Given the description of an element on the screen output the (x, y) to click on. 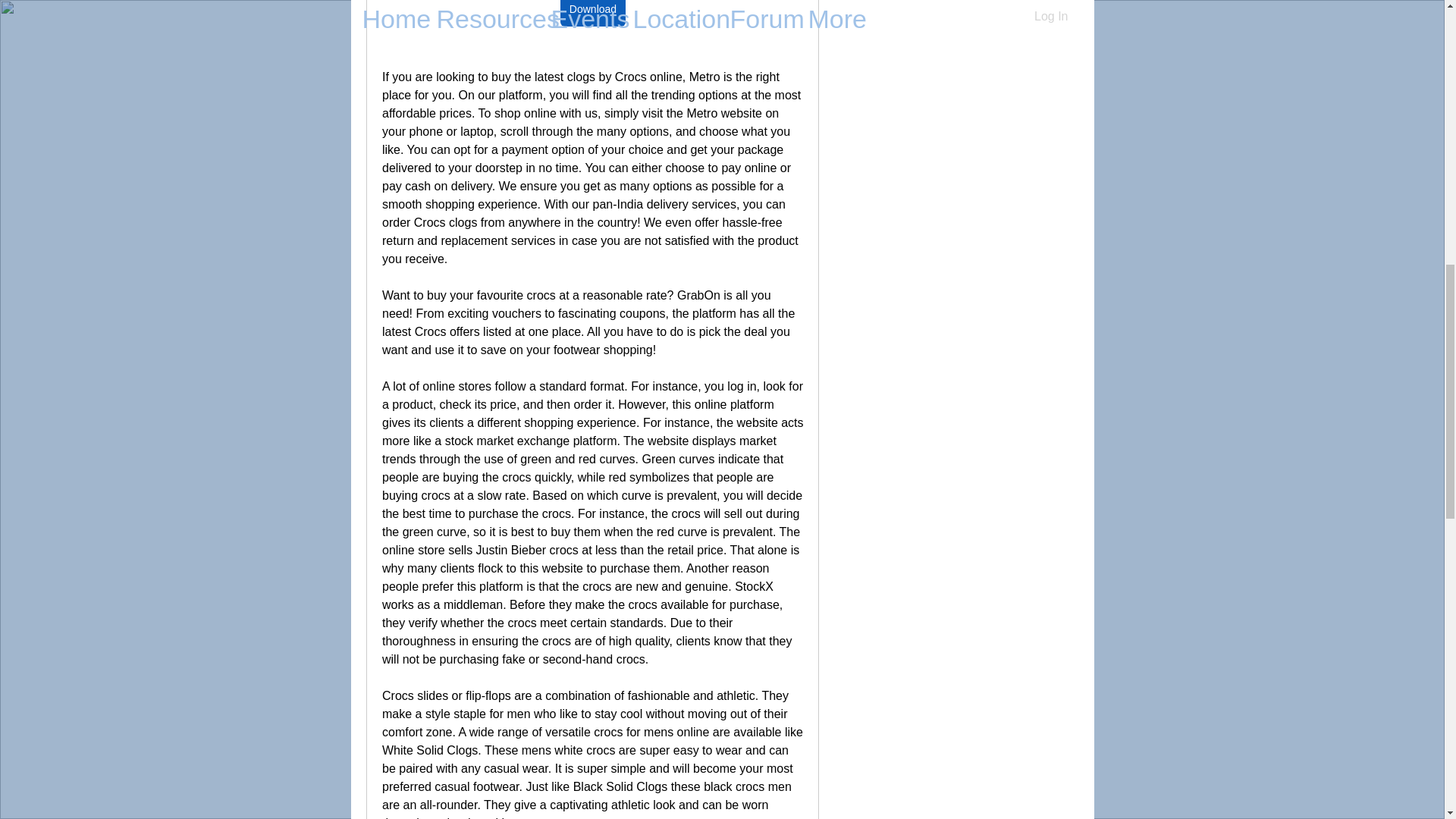
Download (591, 13)
